Given the description of an element on the screen output the (x, y) to click on. 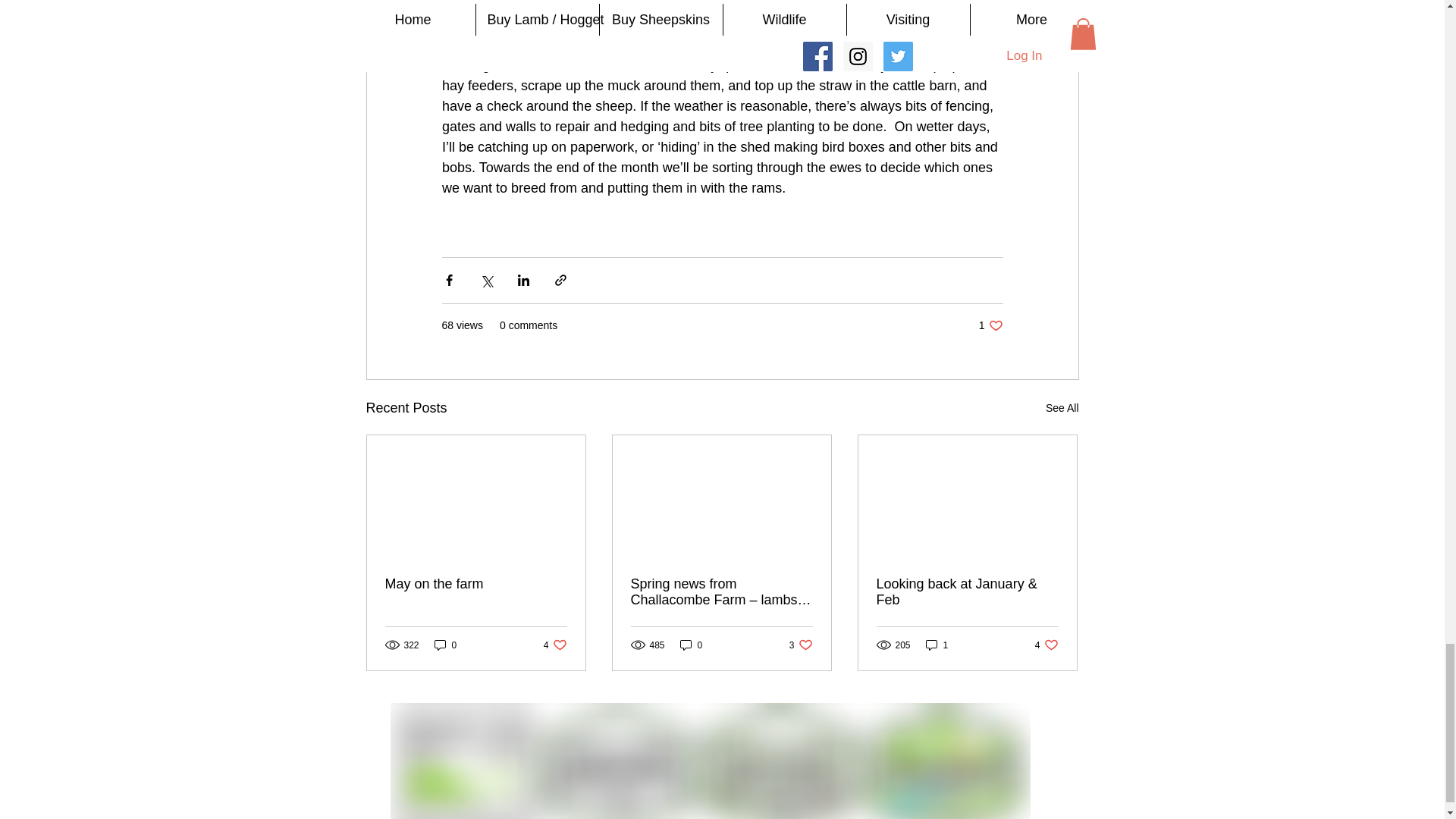
See All (1061, 408)
0 (691, 644)
Combined logos.PNG (709, 760)
May on the farm (555, 644)
0 (990, 325)
